Given the description of an element on the screen output the (x, y) to click on. 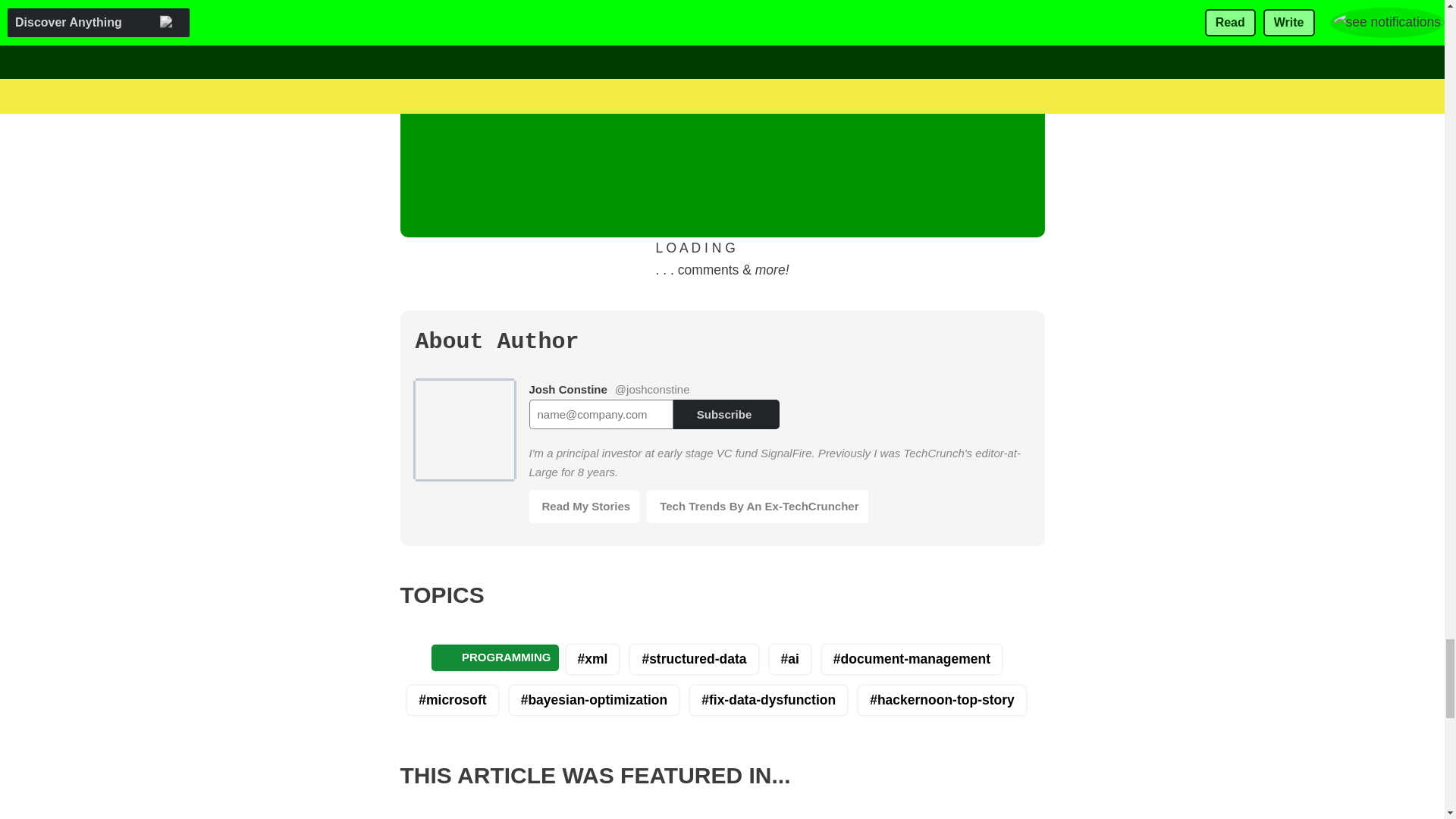
PROGRAMMING (494, 657)
Subscribe (725, 414)
Tech Trends By An Ex-TechCruncher (756, 506)
Read My Stories (584, 506)
